Given the description of an element on the screen output the (x, y) to click on. 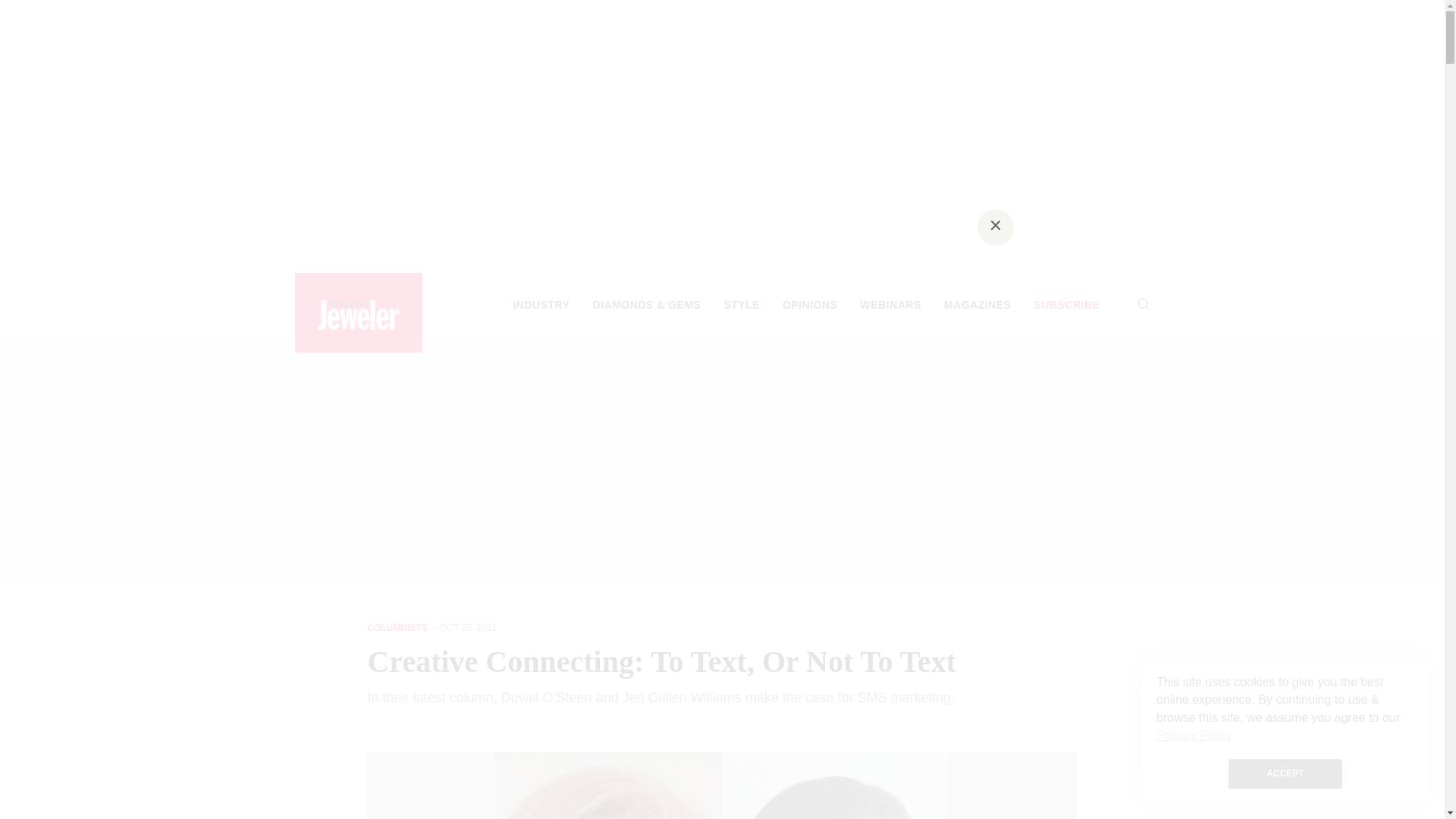
STYLE (741, 304)
OPINIONS (810, 304)
WEBINARS (890, 304)
INDUSTRY (540, 304)
SUBSCRIBE (1066, 304)
MAGAZINES (977, 304)
